Given the description of an element on the screen output the (x, y) to click on. 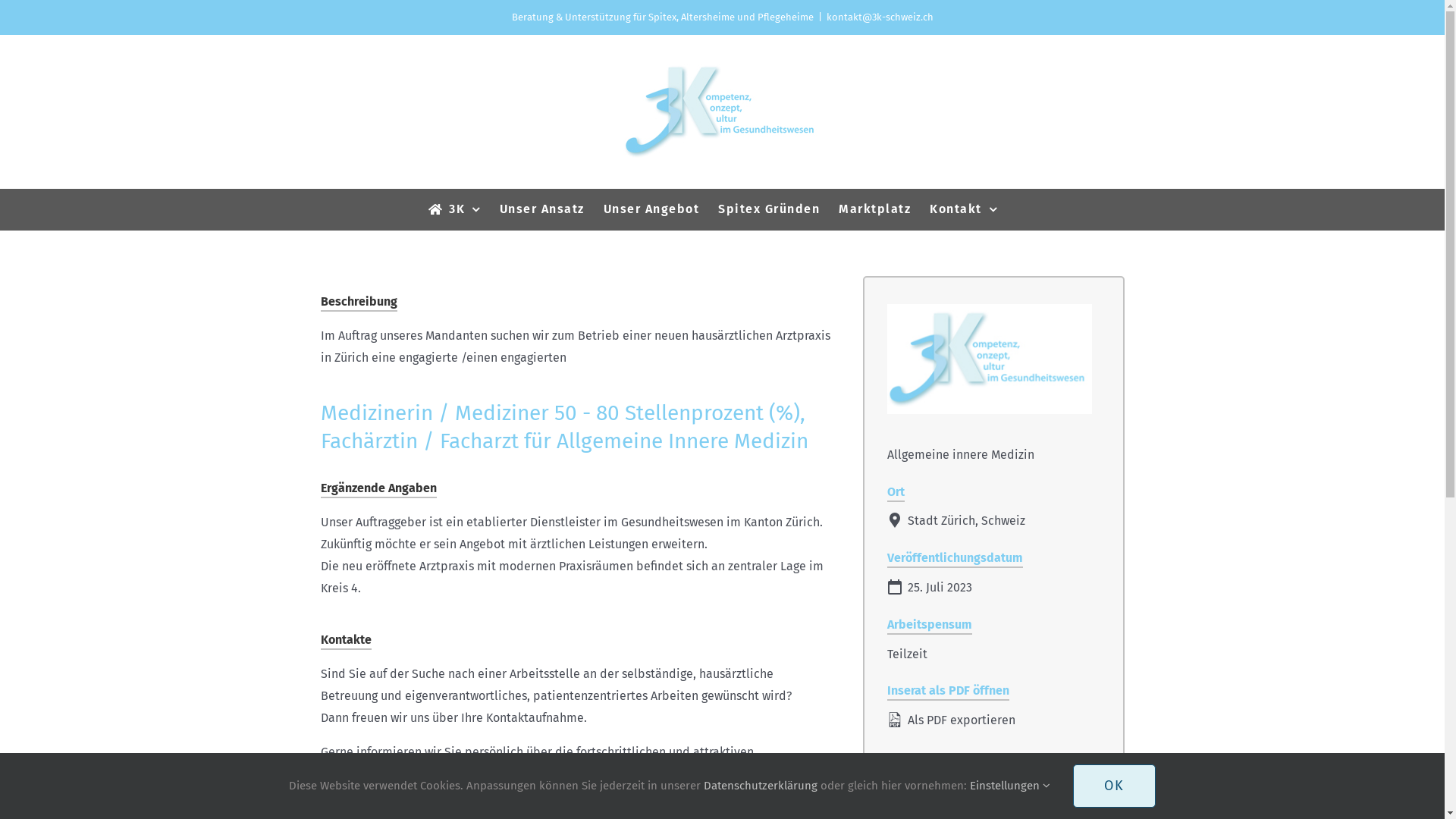
Als PDF exportieren Element type: text (993, 720)
Einstellungen Element type: text (1009, 785)
Unser Ansatz Element type: text (541, 208)
3K Element type: text (454, 208)
JETZT BEWERBEN Element type: text (993, 784)
OK Element type: text (1114, 785)
kontakt@3k-schweiz.ch Element type: text (879, 16)
Unser Angebot Element type: text (651, 208)
Marktplatz Element type: text (874, 208)
Kontakt Element type: text (963, 208)
Im Auftrag einer Mandantin / eines Mandanten Element type: hover (989, 359)
